Given the description of an element on the screen output the (x, y) to click on. 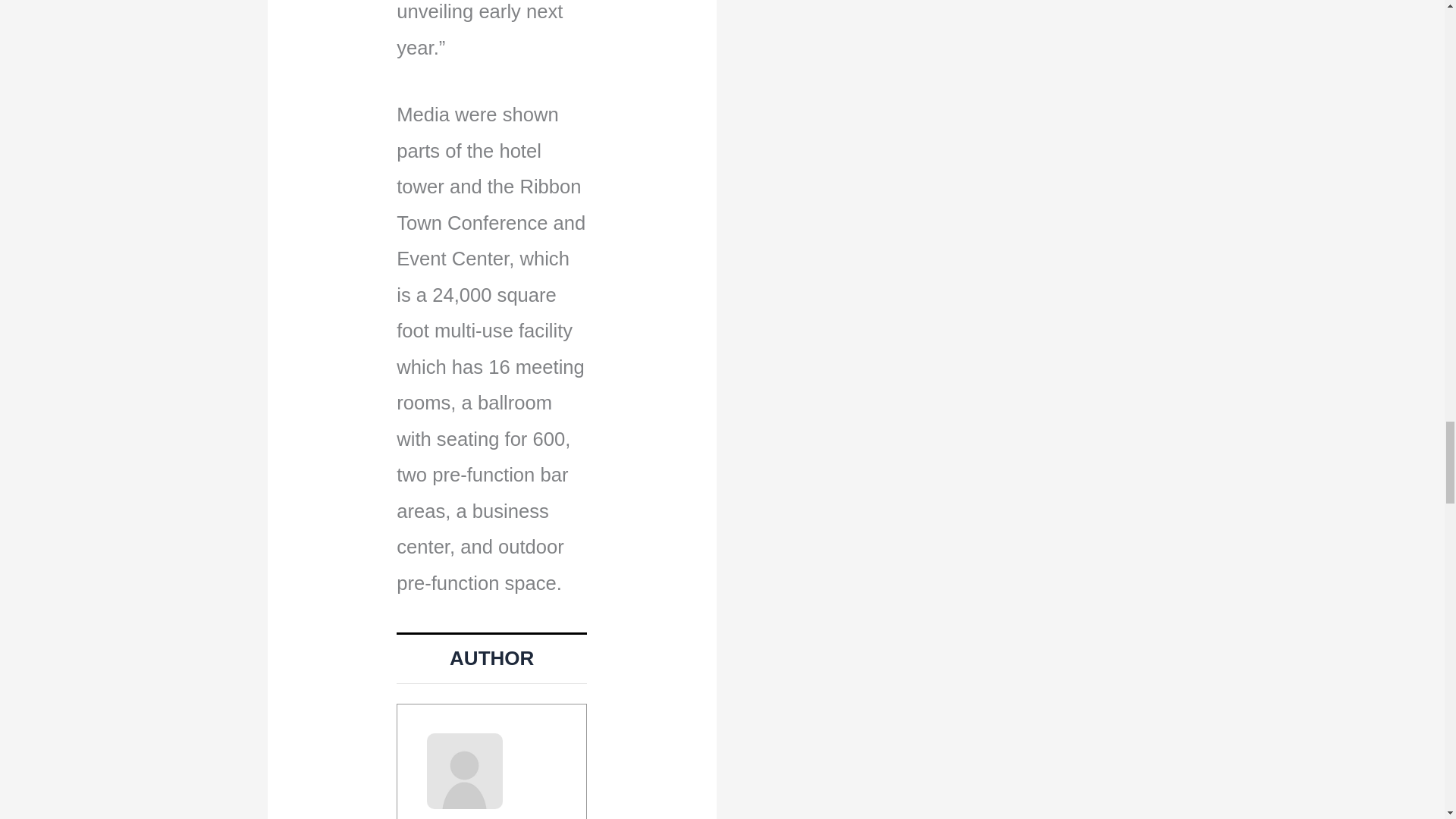
Larry Avila (480, 818)
